Given the description of an element on the screen output the (x, y) to click on. 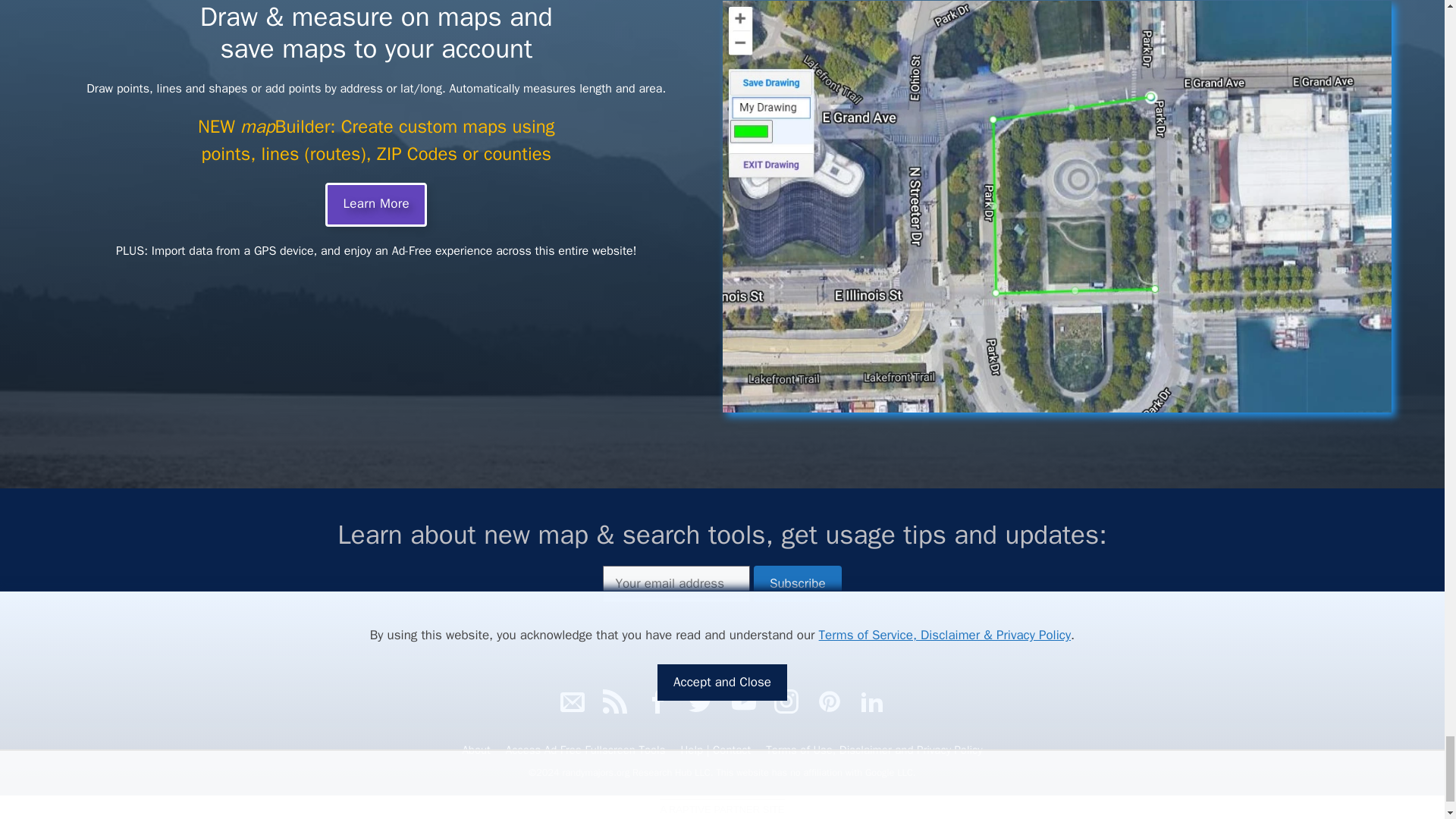
Follow Randy Majors on YouTube (743, 701)
Subscribe to randymajors.org Research Hub updates by email (572, 701)
Subscribe to randymajors.org Research Hub updates by RSS (614, 701)
Follow randymajors.org Research Hub on Instagram (785, 701)
Follow Randy Majors on Twitter (700, 701)
Follow randymajors.org Research Hub on Facebook (657, 701)
Follow randymajors.org Research Hub on Pinterest (828, 701)
Learn More (375, 204)
Follow randymajors.org Research Hub on LinkedIn (871, 701)
